Given the description of an element on the screen output the (x, y) to click on. 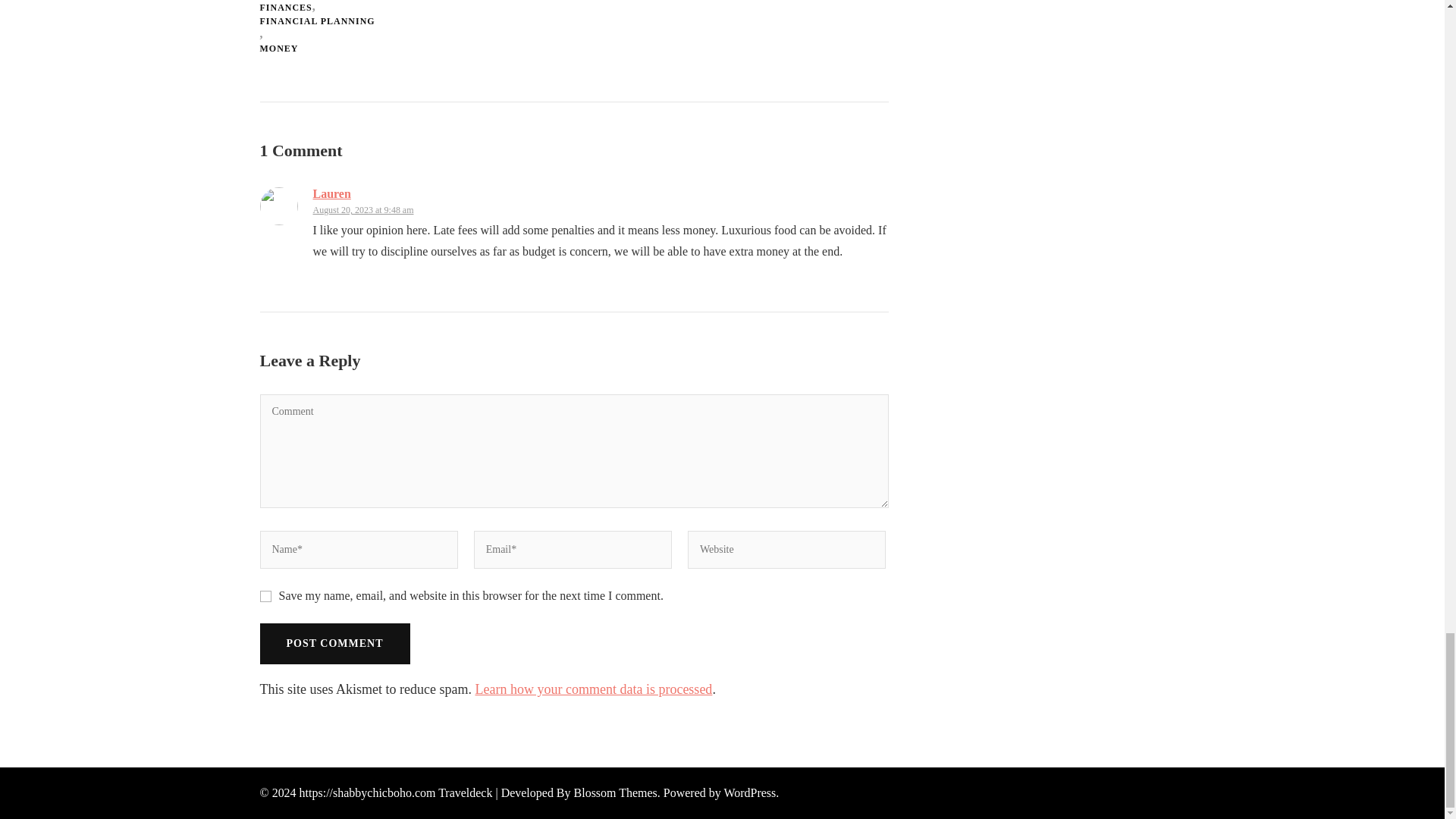
Post Comment (334, 643)
